Given the description of an element on the screen output the (x, y) to click on. 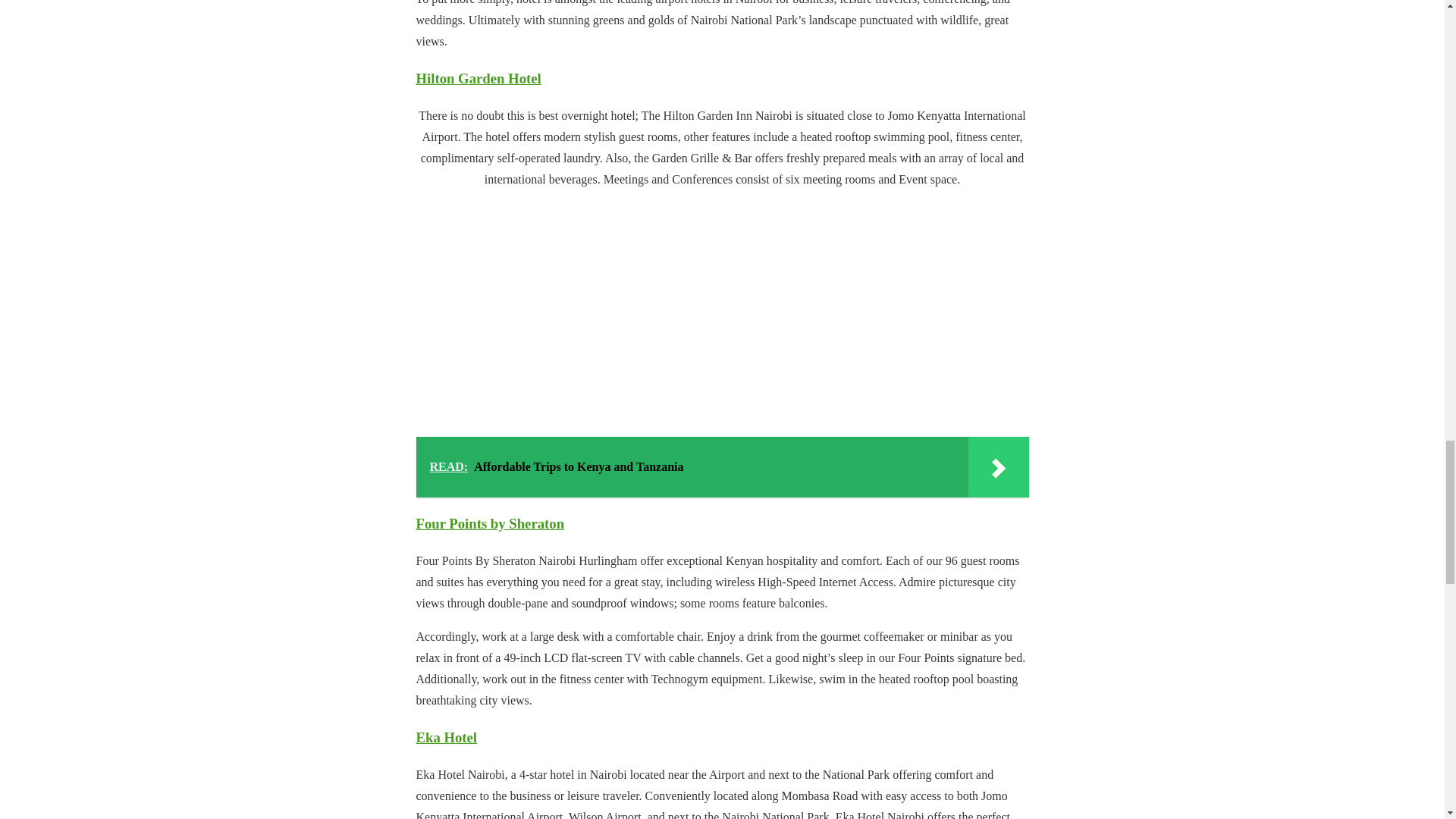
Eka Hotel (445, 737)
Africa Kenya safari and beach holiday packages (721, 303)
Four Points by Sheraton (489, 523)
READ:  Affordable Trips to Kenya and Tanzania (720, 466)
Hilton Garden Hotel (477, 78)
